Given the description of an element on the screen output the (x, y) to click on. 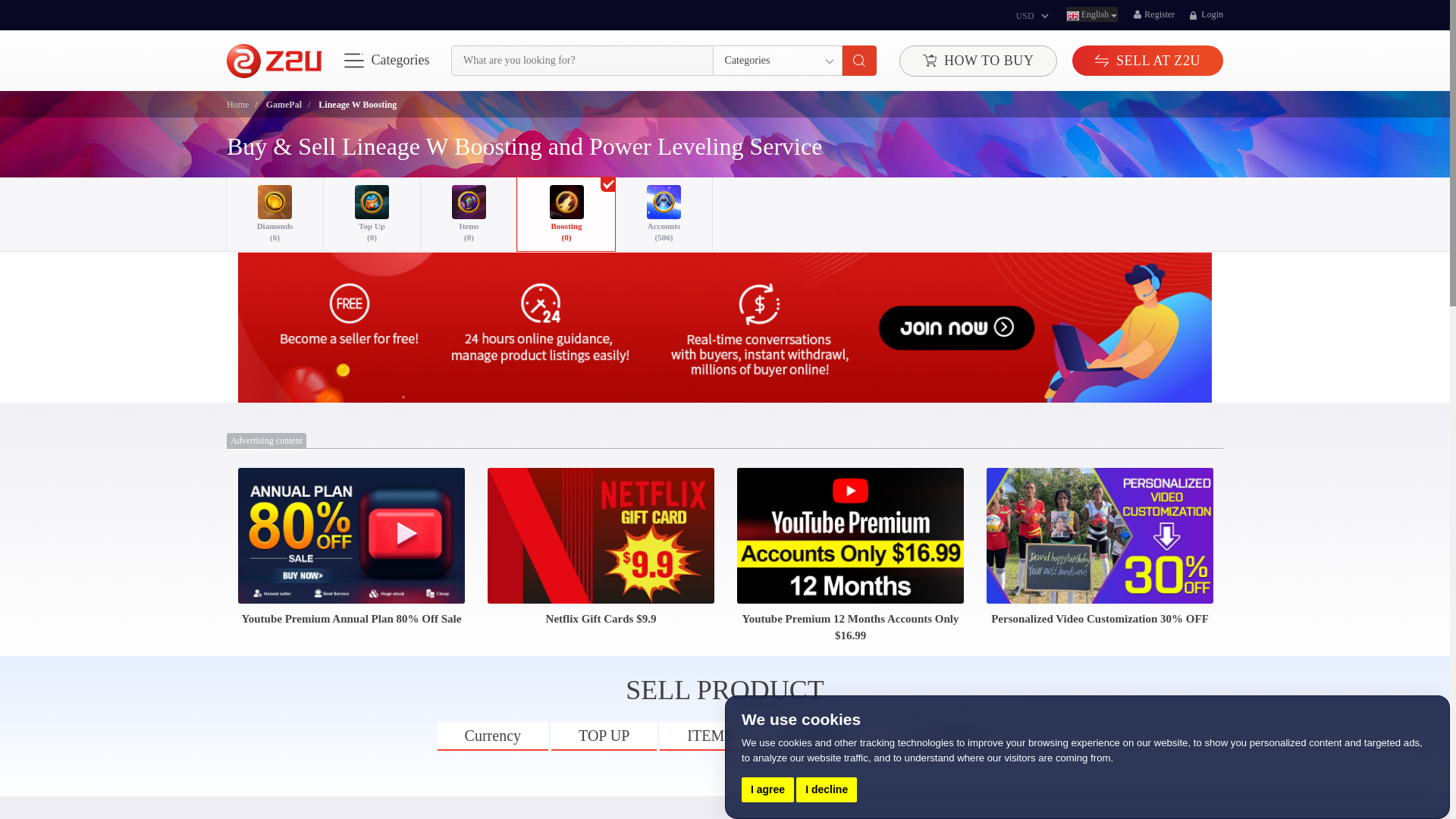
I agree (767, 789)
Register (1153, 14)
English (1091, 14)
Login (1206, 14)
I decline (826, 789)
